Given the description of an element on the screen output the (x, y) to click on. 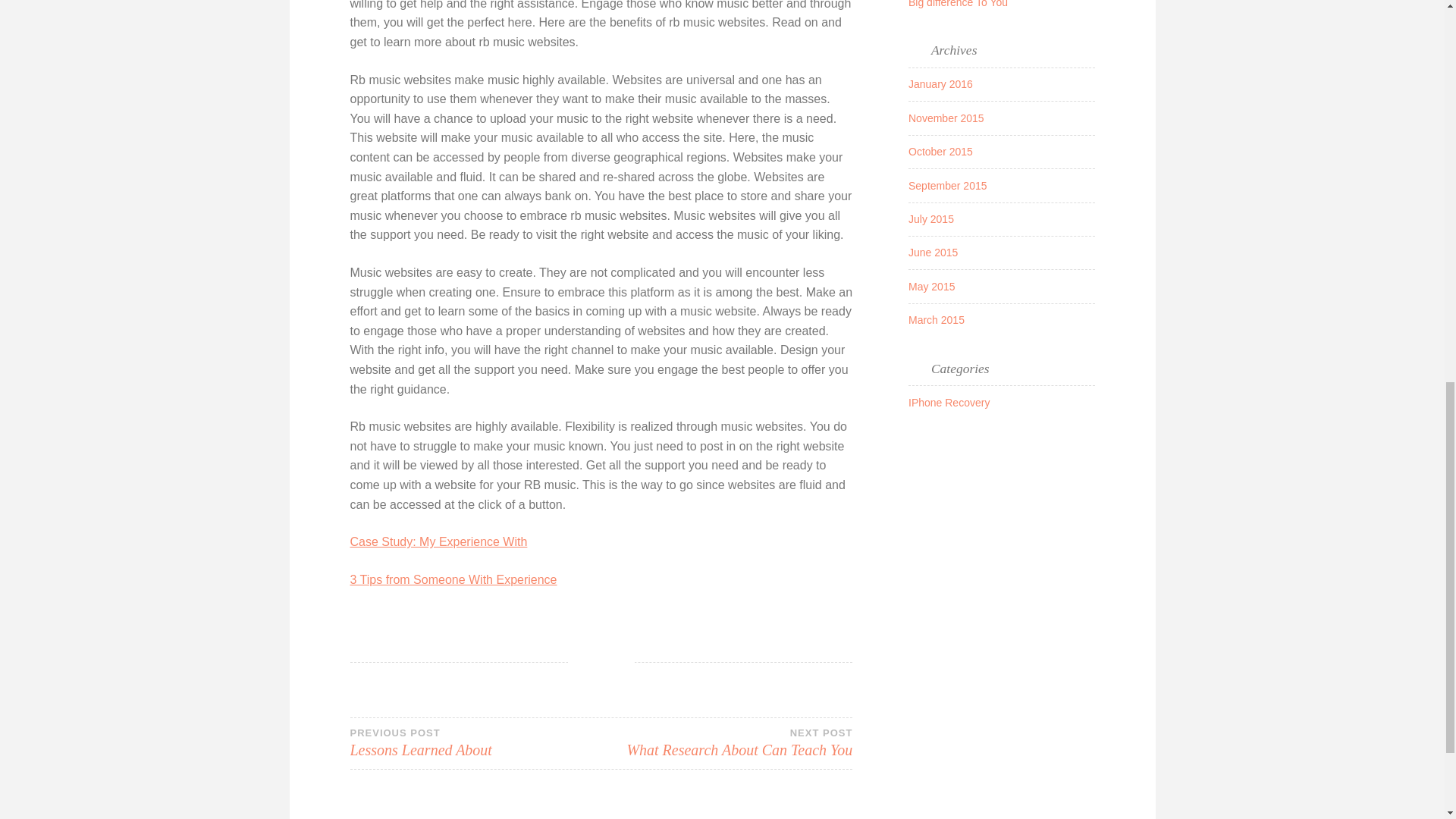
Case Study: My Experience With (438, 541)
May 2015 (931, 286)
January 2016 (475, 742)
March 2015 (726, 742)
3 Tips from Someone With Experience (940, 83)
IPhone Recovery (935, 319)
November 2015 (453, 579)
June 2015 (949, 402)
